Given the description of an element on the screen output the (x, y) to click on. 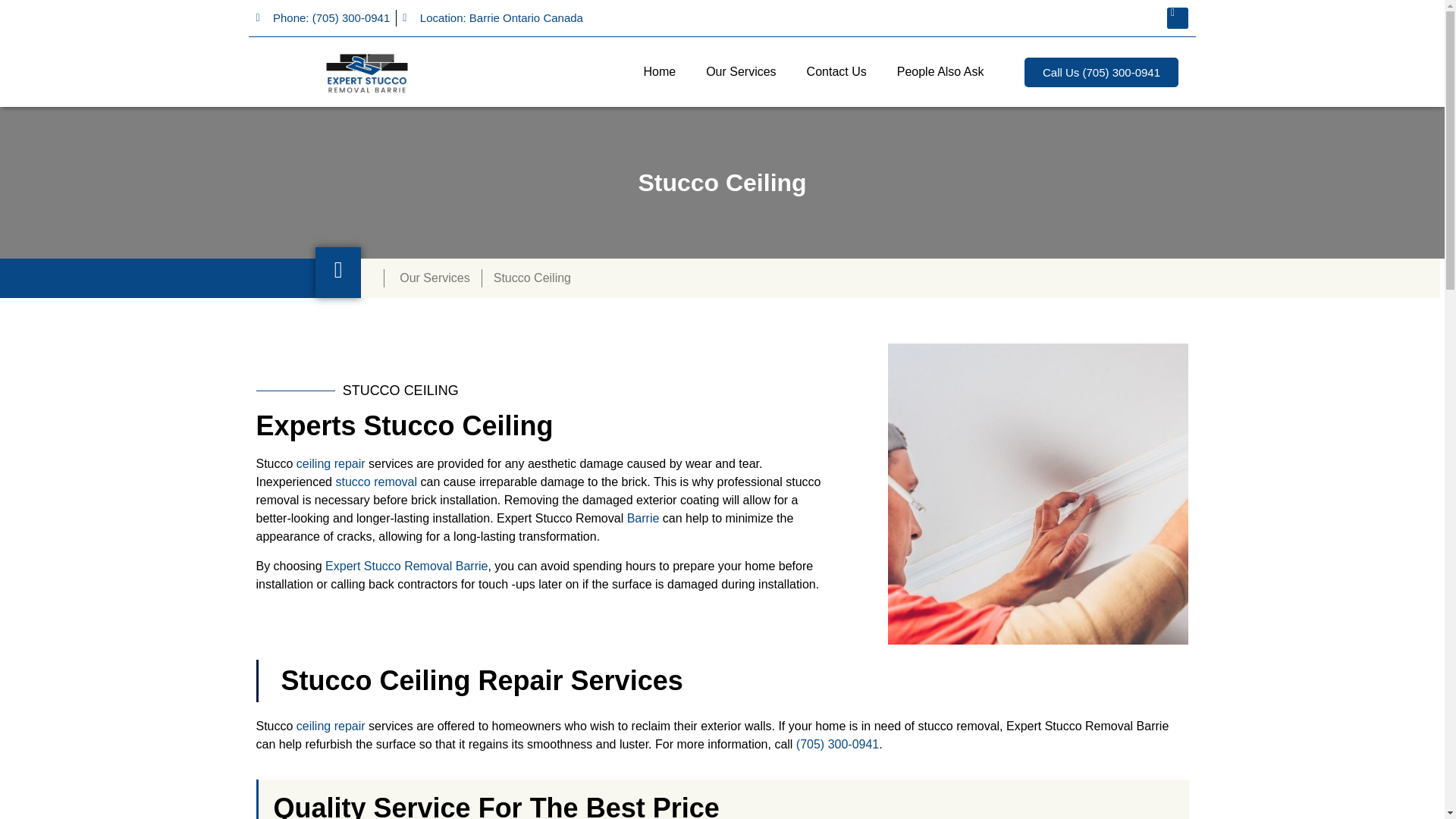
Location: Barrie Ontario Canada (493, 18)
Home (658, 71)
Our Services (740, 71)
Barrie (643, 517)
People Also Ask (940, 71)
Contact Us (837, 71)
